Given the description of an element on the screen output the (x, y) to click on. 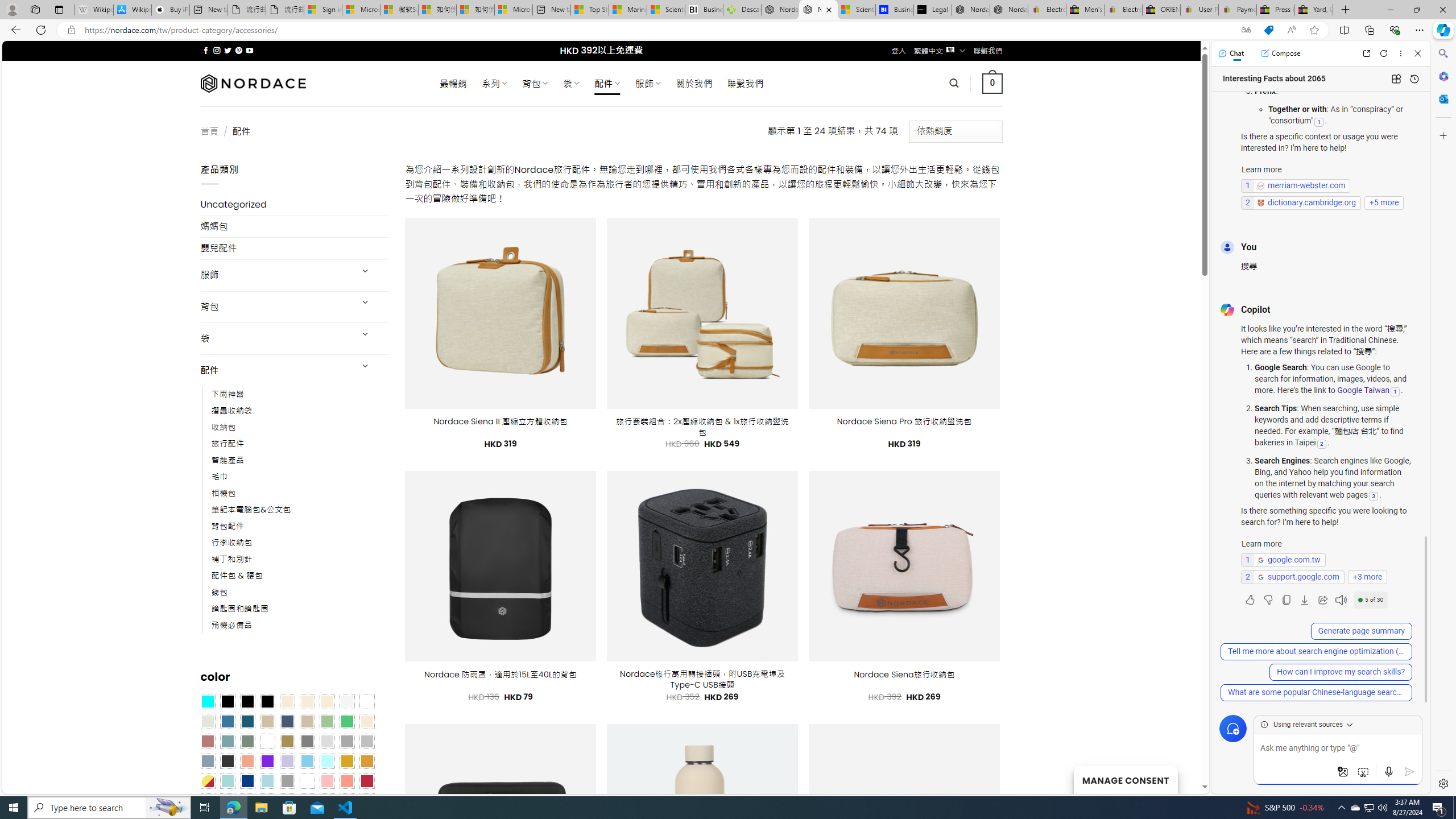
Descarga Driver Updater (741, 9)
Follow on Twitter (227, 50)
